Given the description of an element on the screen output the (x, y) to click on. 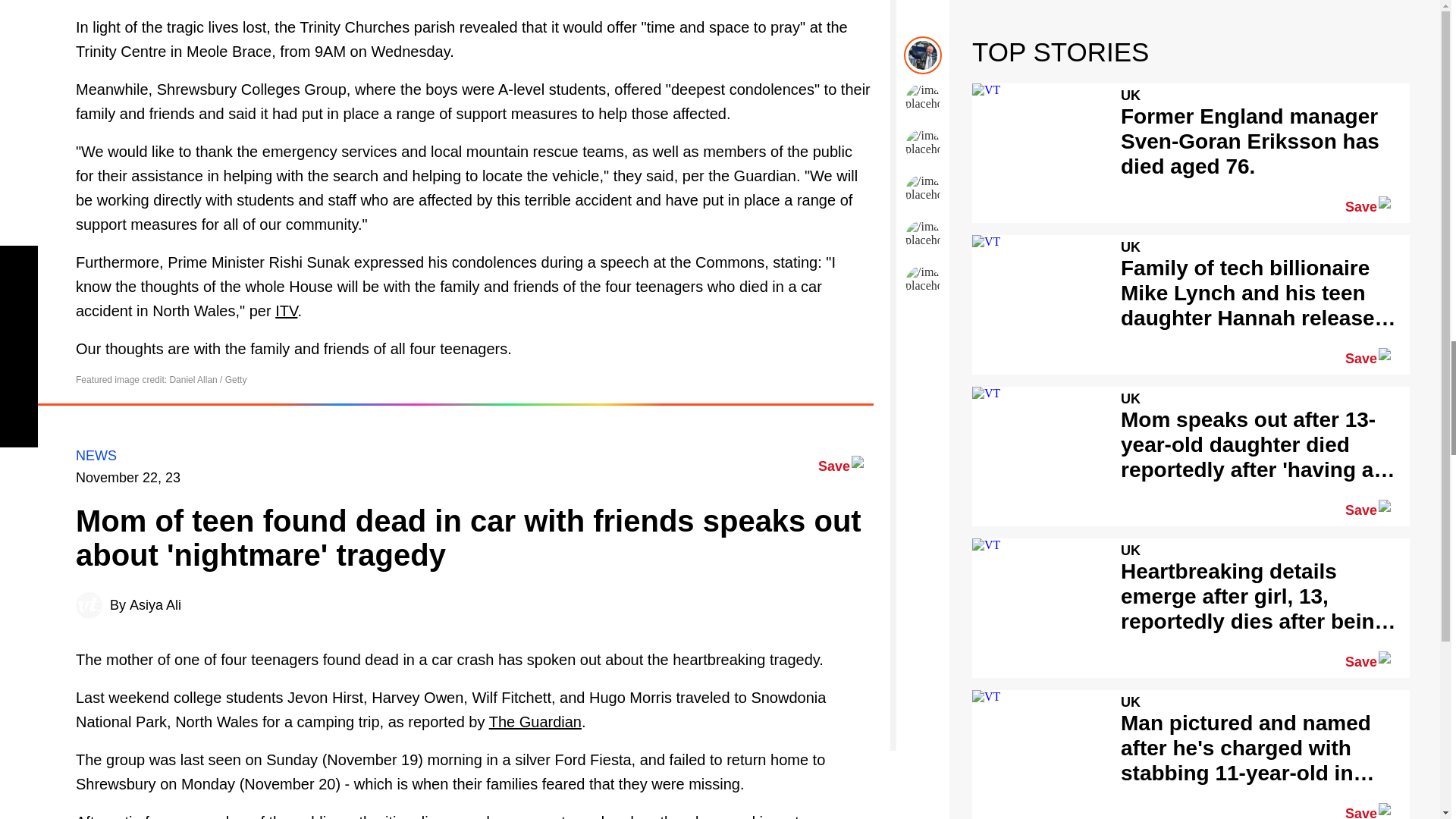
ITV (286, 310)
NEWS (95, 455)
The Guardian (534, 721)
